Given the description of an element on the screen output the (x, y) to click on. 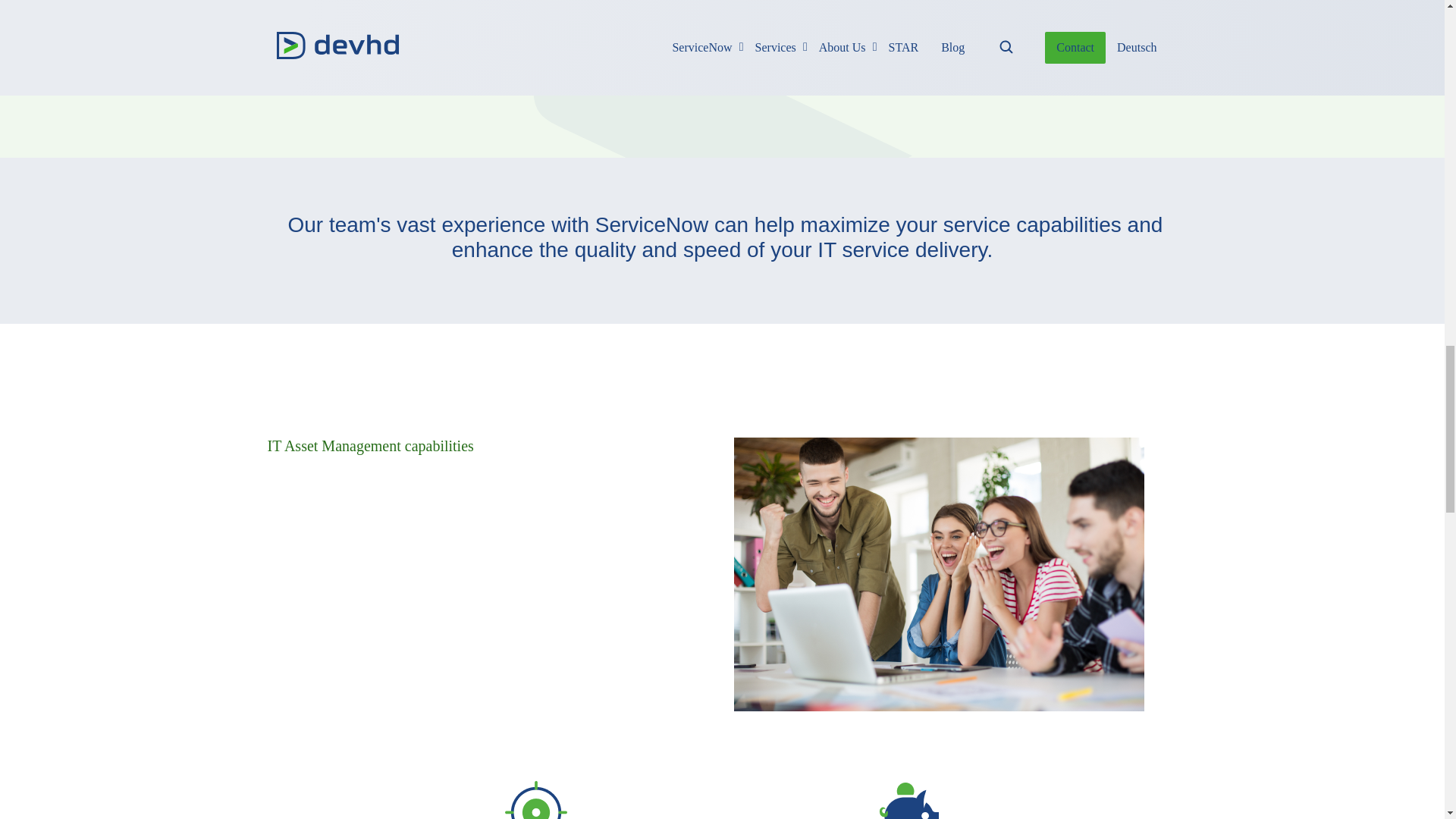
Financial  Asset Management (908, 797)
Tracking  available assets (536, 797)
cheerful-woman-using-laptop-coworking-space 1 (414, 25)
